Given the description of an element on the screen output the (x, y) to click on. 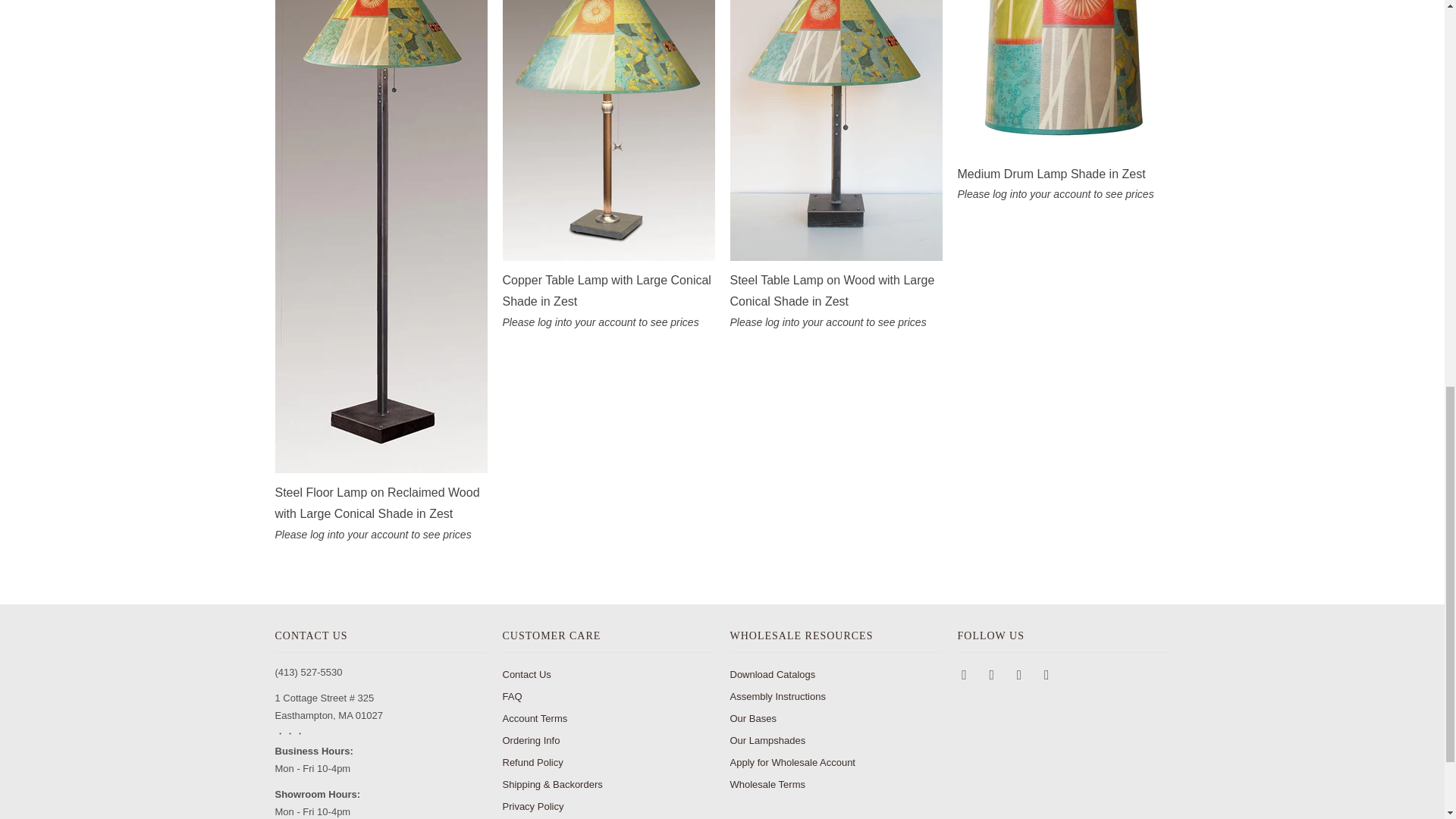
Contact Us (526, 674)
FAQ (511, 696)
Account Terms (534, 717)
